Given the description of an element on the screen output the (x, y) to click on. 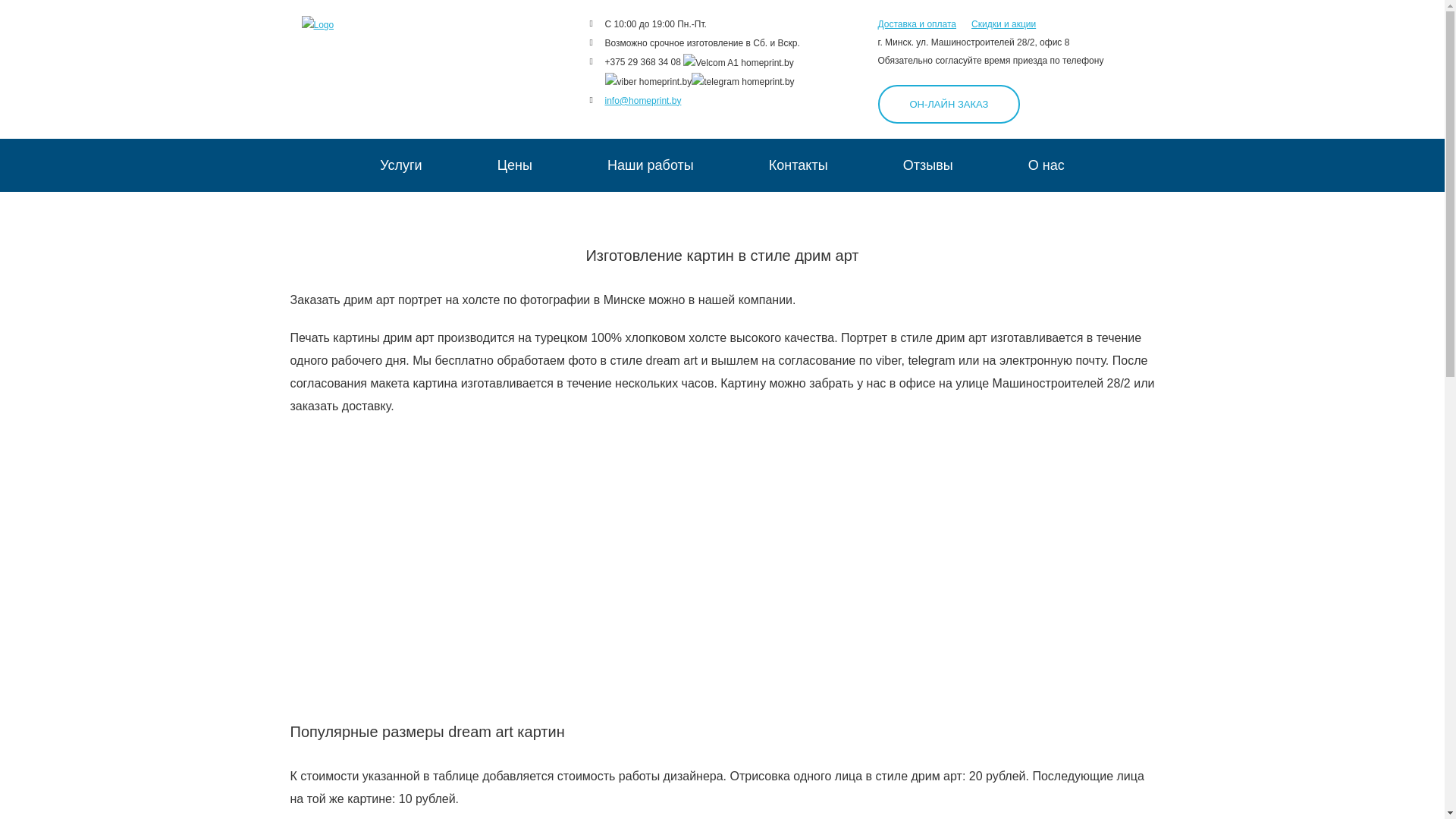
+375 29 368 34 08 Element type: text (642, 61)
info@homeprint.by Element type: text (643, 100)
